Given the description of an element on the screen output the (x, y) to click on. 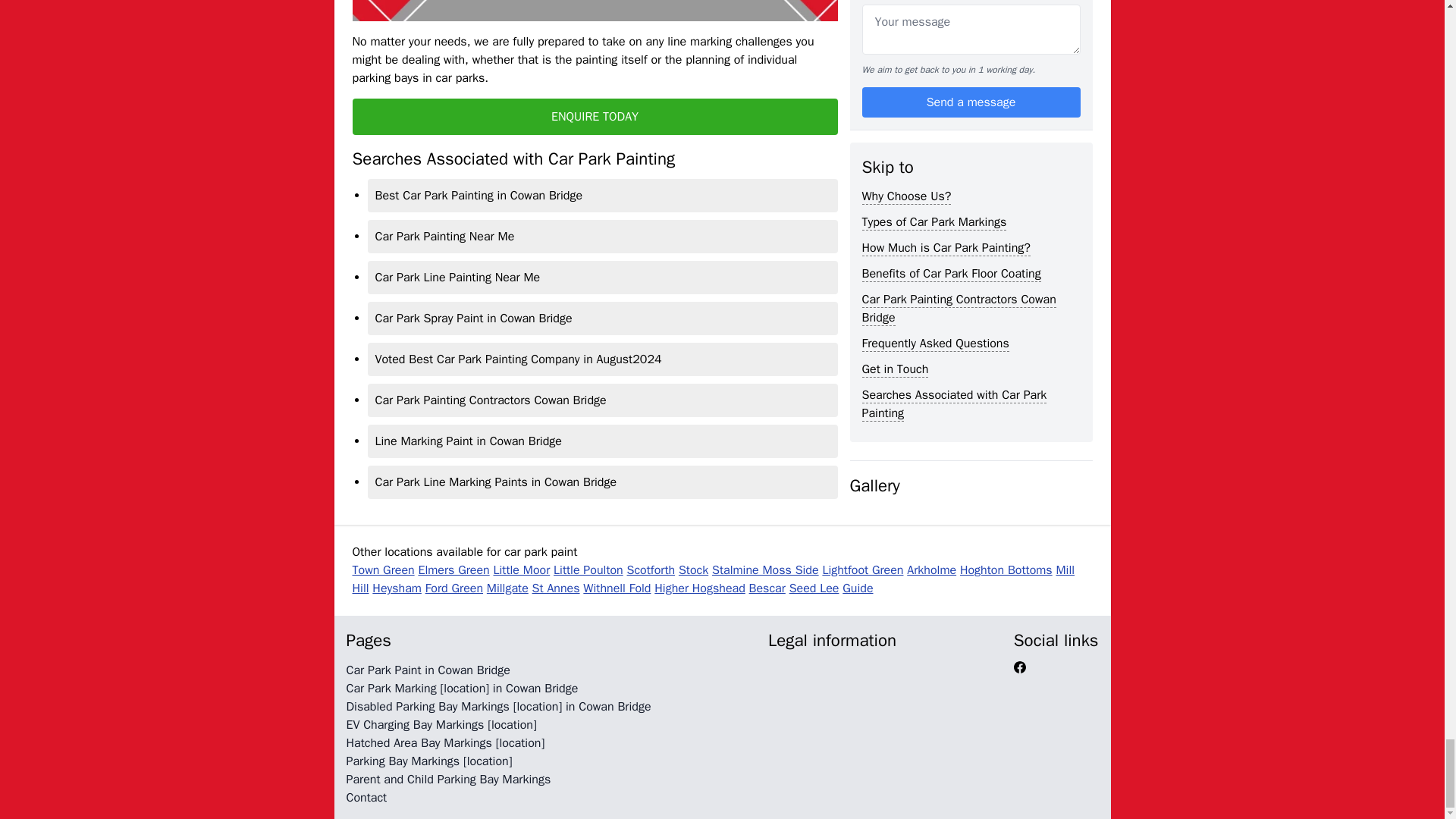
ENQUIRE TODAY (594, 116)
